Given the description of an element on the screen output the (x, y) to click on. 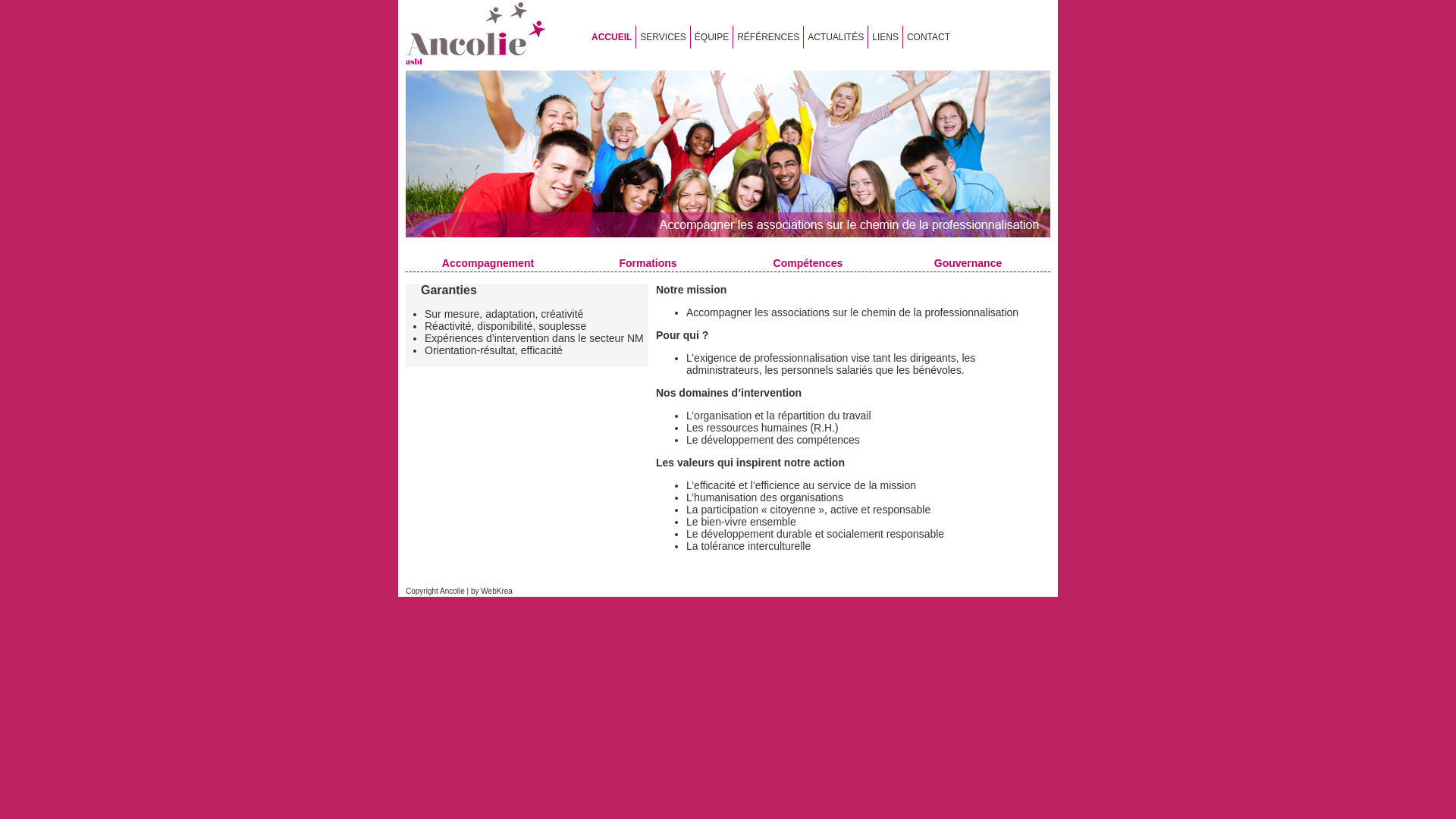
WebKrea Element type: text (496, 590)
LIENS Element type: text (885, 36)
Accompagnement Element type: text (487, 263)
SERVICES Element type: text (662, 36)
CONTACT Element type: text (928, 36)
ACCUEIL Element type: text (611, 36)
Formations Element type: text (647, 263)
Gouvernance Element type: text (967, 263)
